Given the description of an element on the screen output the (x, y) to click on. 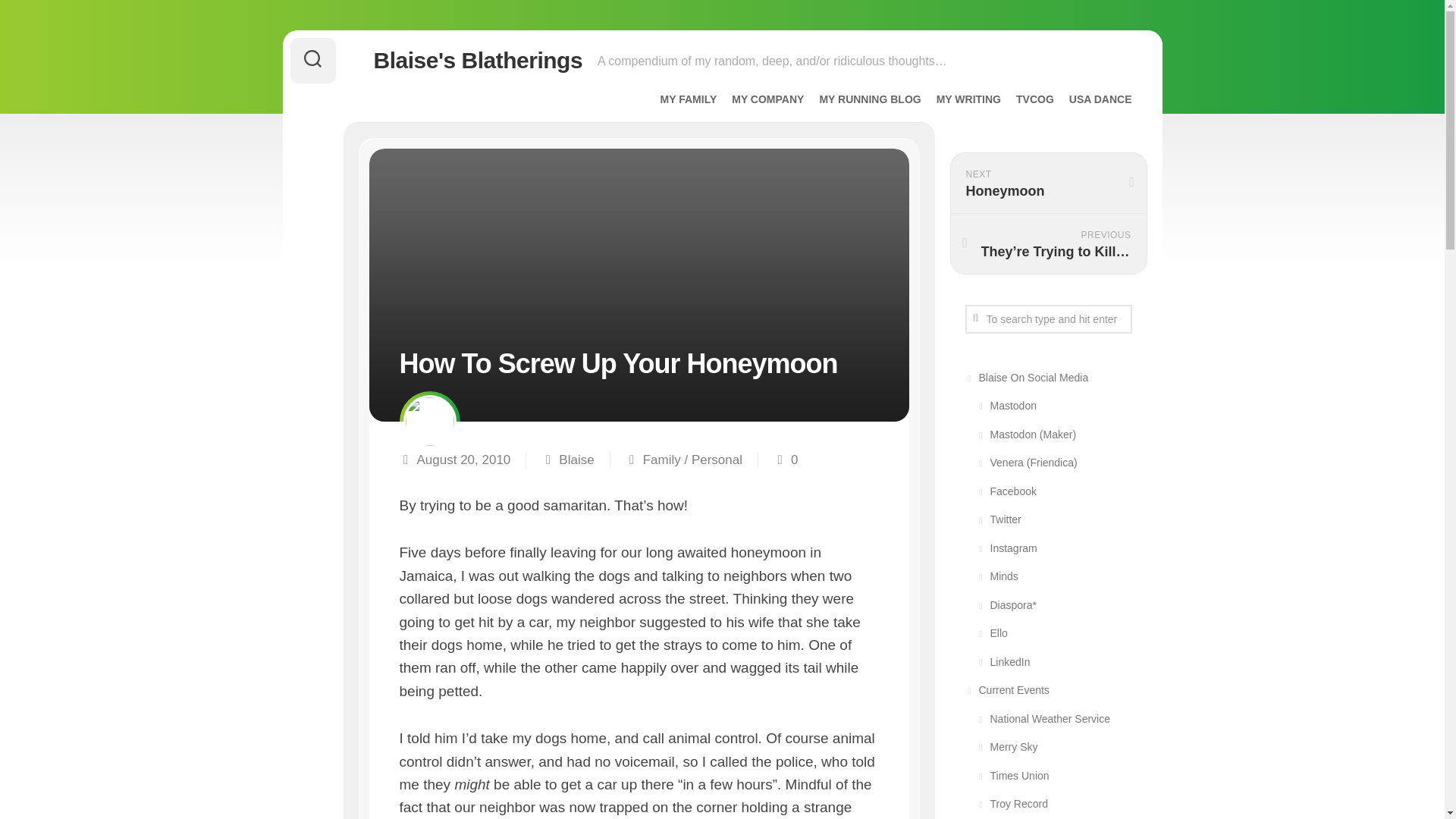
Minds (1047, 576)
MY COMPANY (767, 98)
Ello (1047, 633)
MY WRITING (968, 98)
Blaise (576, 459)
Human Interface Systems (767, 98)
Posts by Blaise (576, 459)
To search type and hit enter (1047, 318)
Blaise On Social Media (1047, 378)
Family (662, 459)
LinkedIn (1047, 661)
The Hartley Family Chronicle (689, 98)
Twitter (1047, 520)
Instagram (1047, 547)
TVCOG (1035, 98)
